Given the description of an element on the screen output the (x, y) to click on. 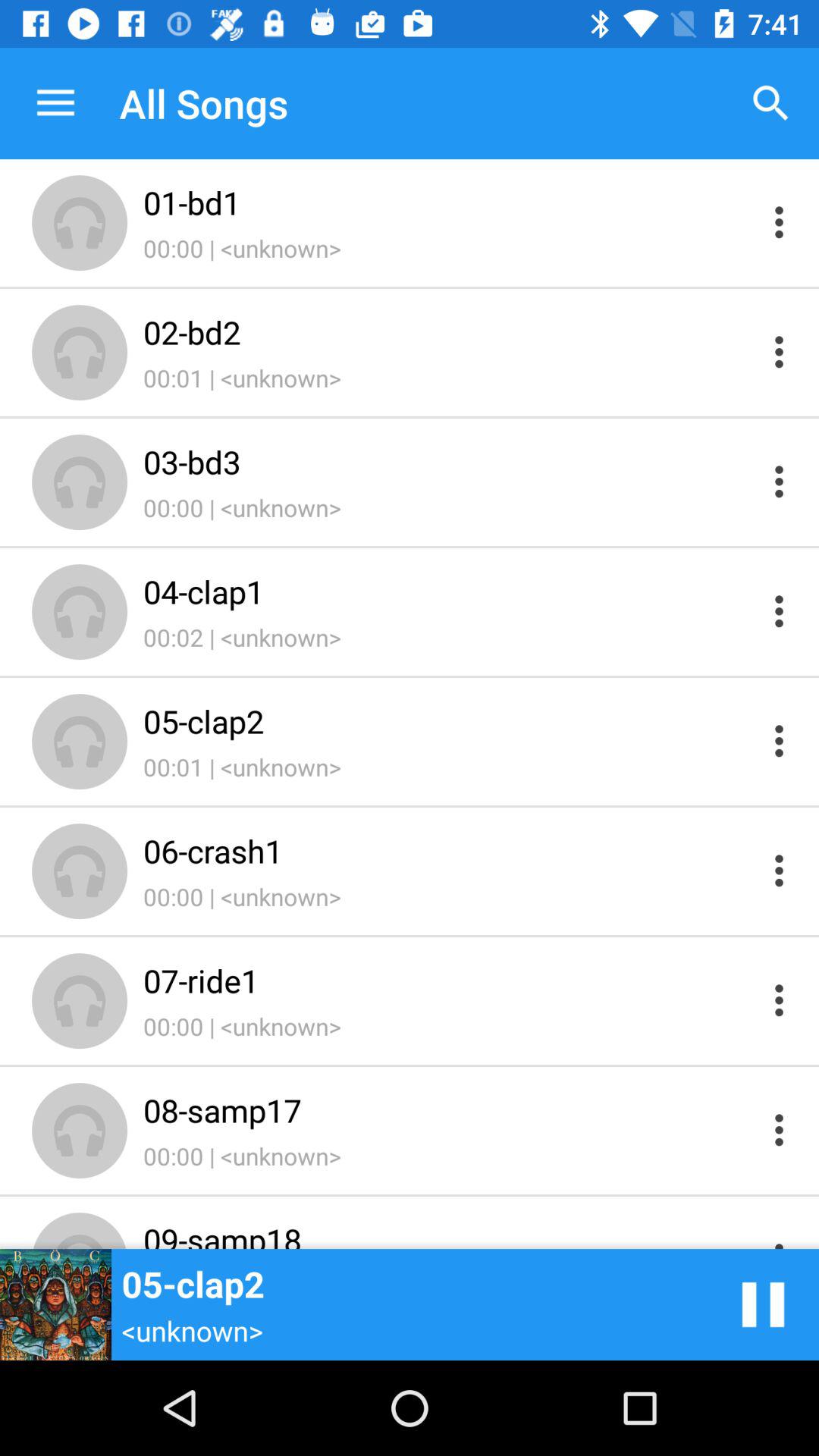
individual song options (779, 1233)
